Given the description of an element on the screen output the (x, y) to click on. 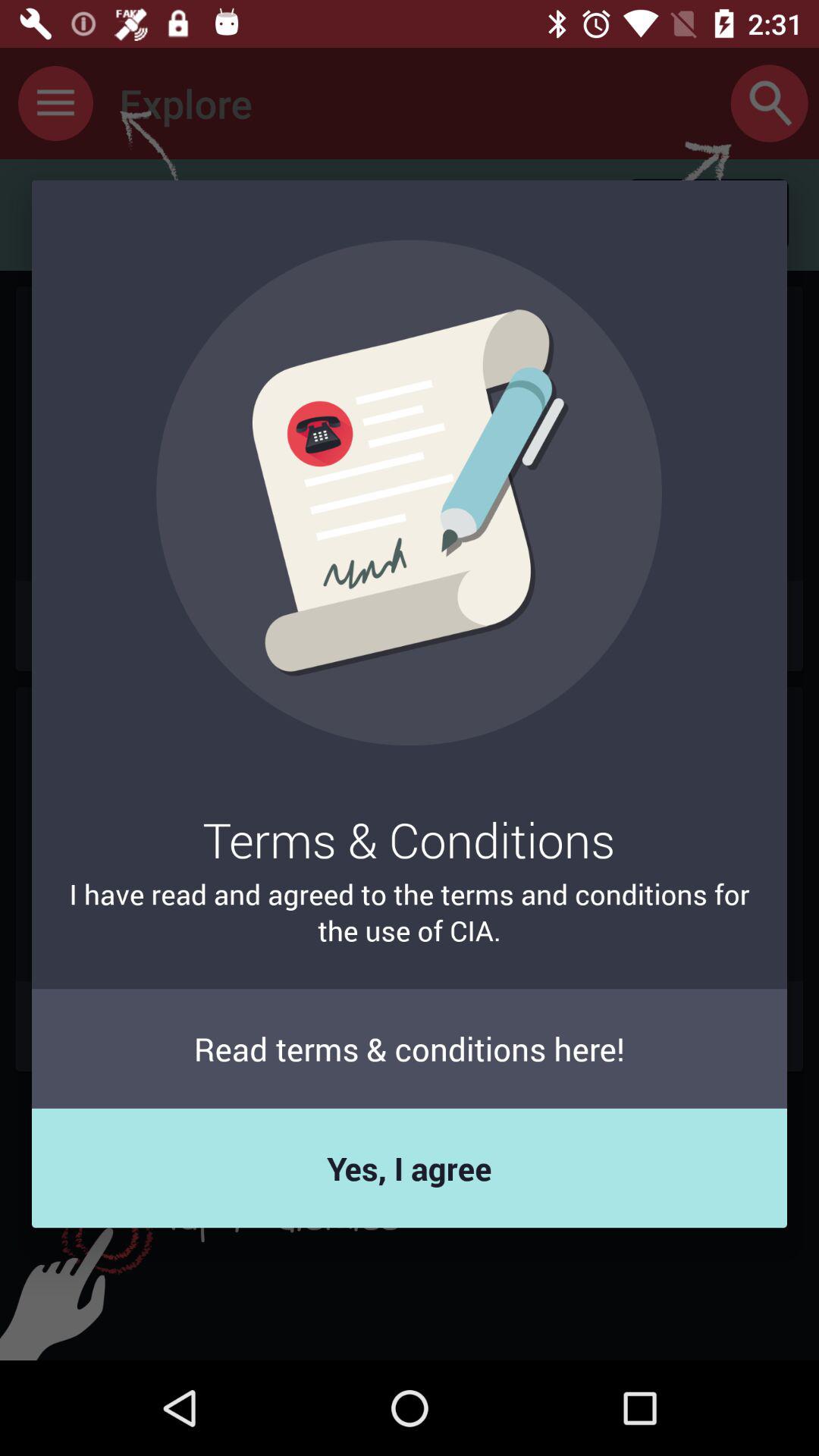
tap the yes, i agree (409, 1167)
